Given the description of an element on the screen output the (x, y) to click on. 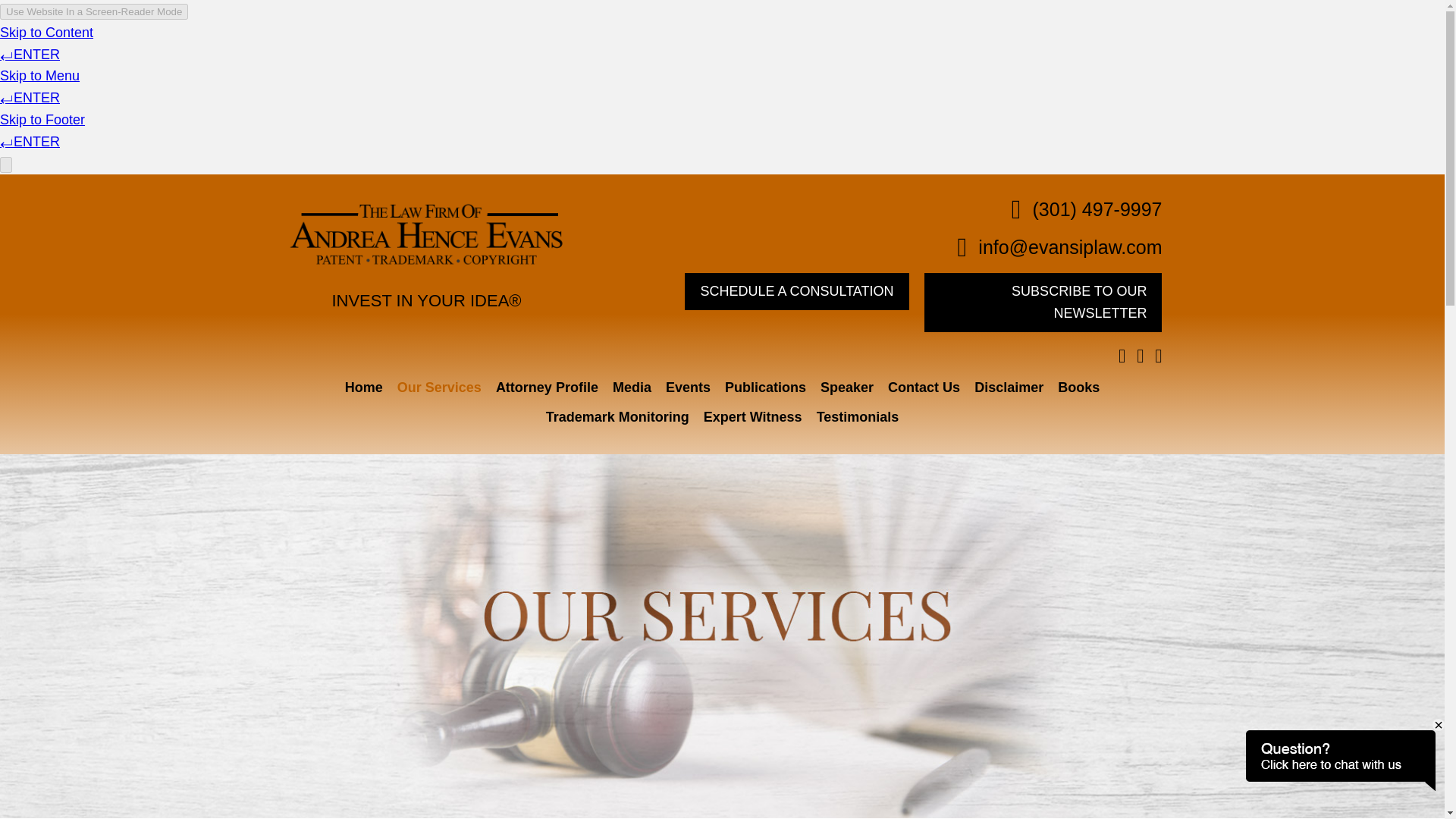
Trademark Monitoring (617, 417)
SUBSCRIBE TO OUR NEWSLETTER (1042, 302)
Attorney Profile (547, 387)
Speaker (847, 387)
Disclaimer (1008, 387)
Contact Us (923, 387)
Books (1078, 387)
Media (631, 387)
Events (688, 387)
SCHEDULE A CONSULTATION (796, 291)
Testimonials (857, 417)
Home (363, 387)
Our Services (438, 387)
Expert Witness (753, 417)
Publications (764, 387)
